Given the description of an element on the screen output the (x, y) to click on. 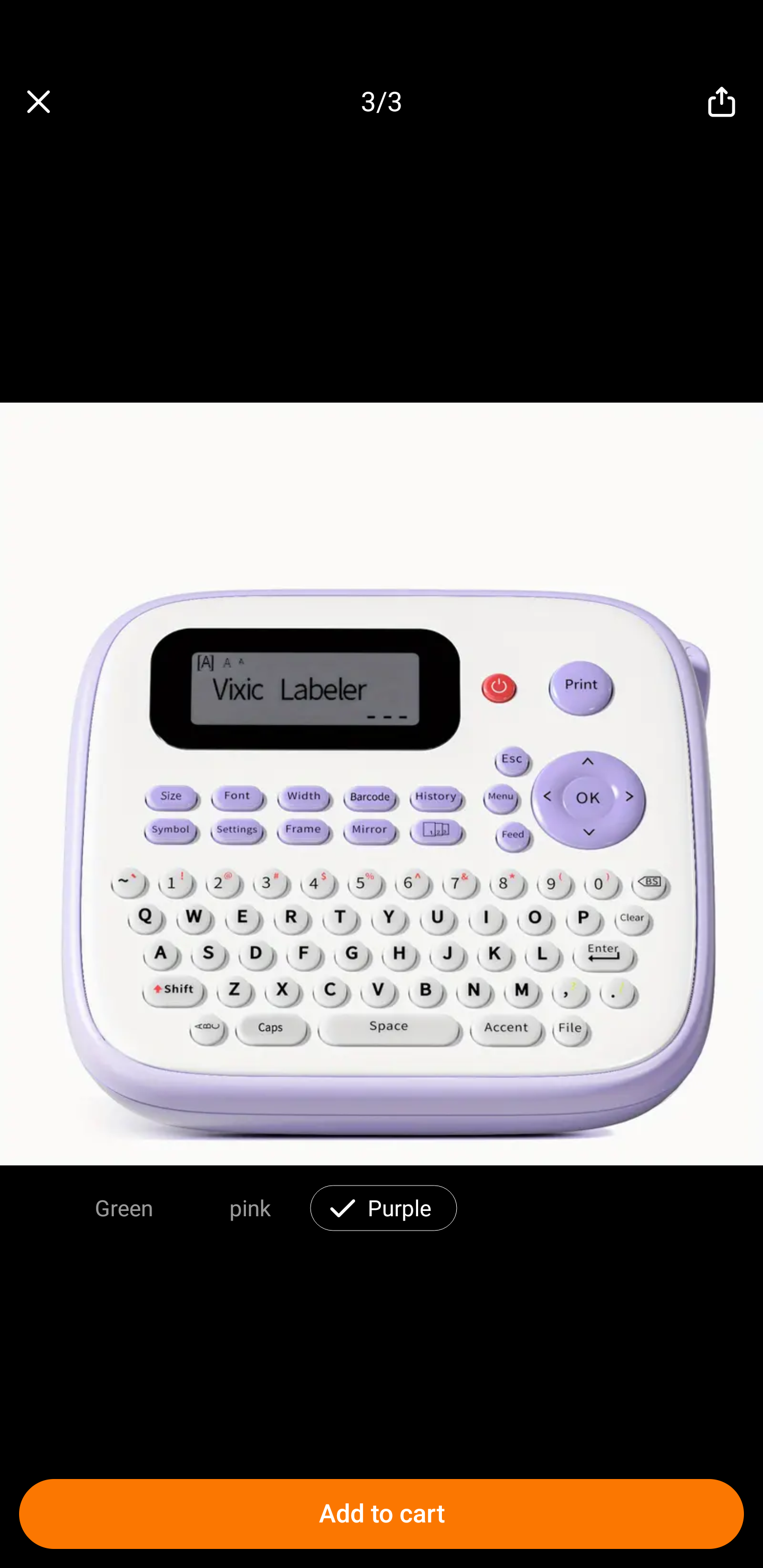
share (721, 101)
Green (123, 1207)
pink (249, 1207)
Purple (399, 1207)
Add to cart (381, 1513)
